Given the description of an element on the screen output the (x, y) to click on. 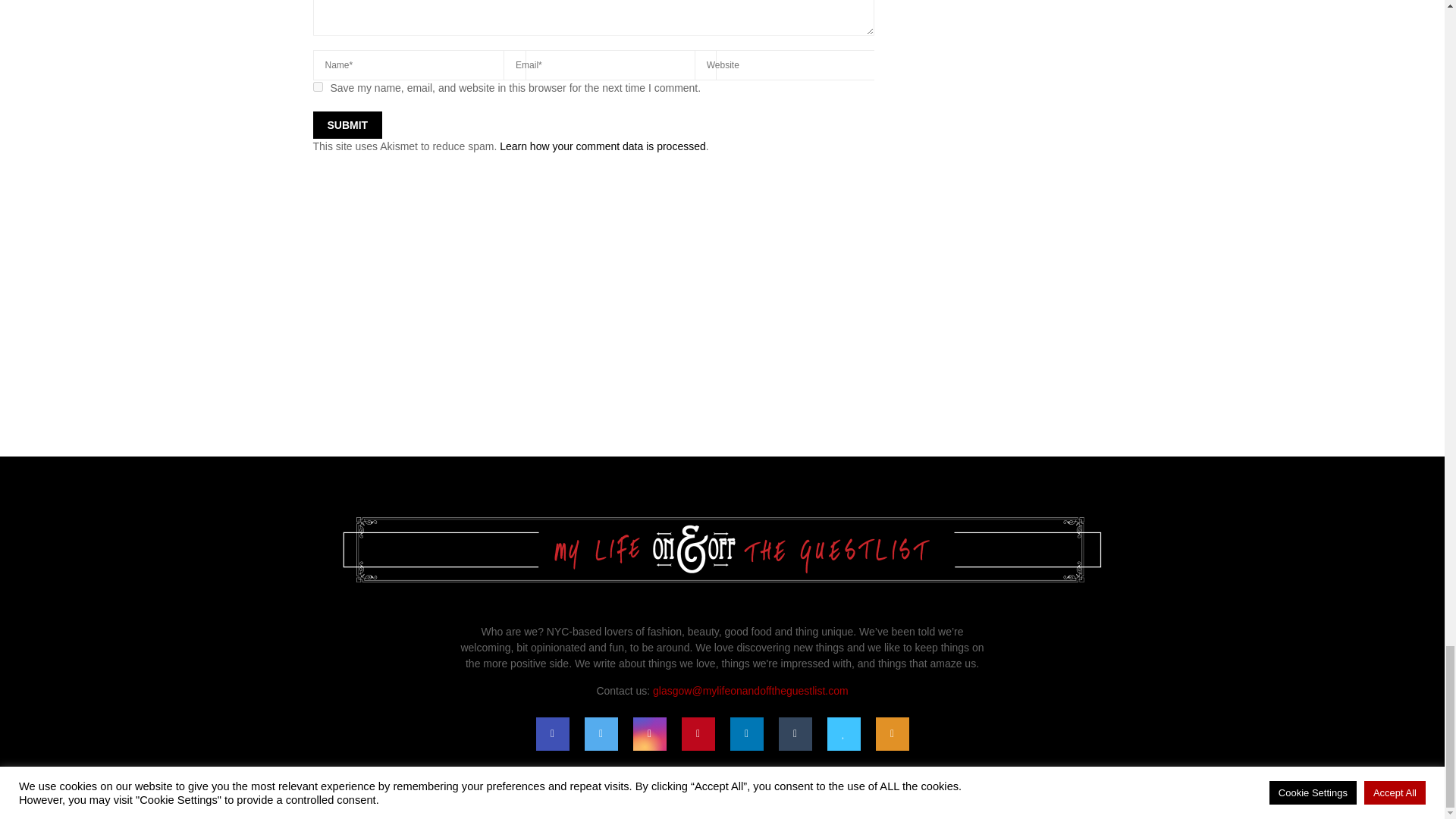
yes (317, 86)
Submit (347, 124)
